Given the description of an element on the screen output the (x, y) to click on. 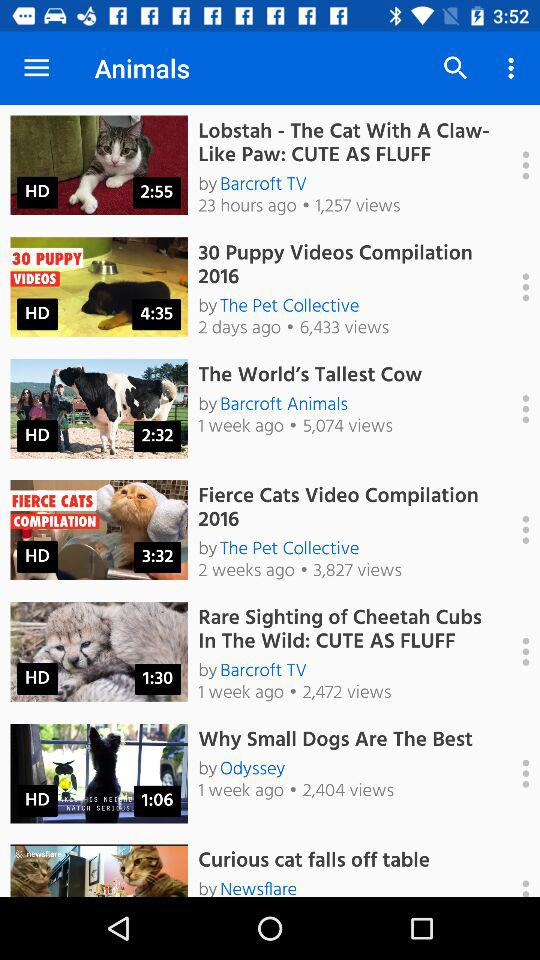
more info (515, 773)
